Given the description of an element on the screen output the (x, y) to click on. 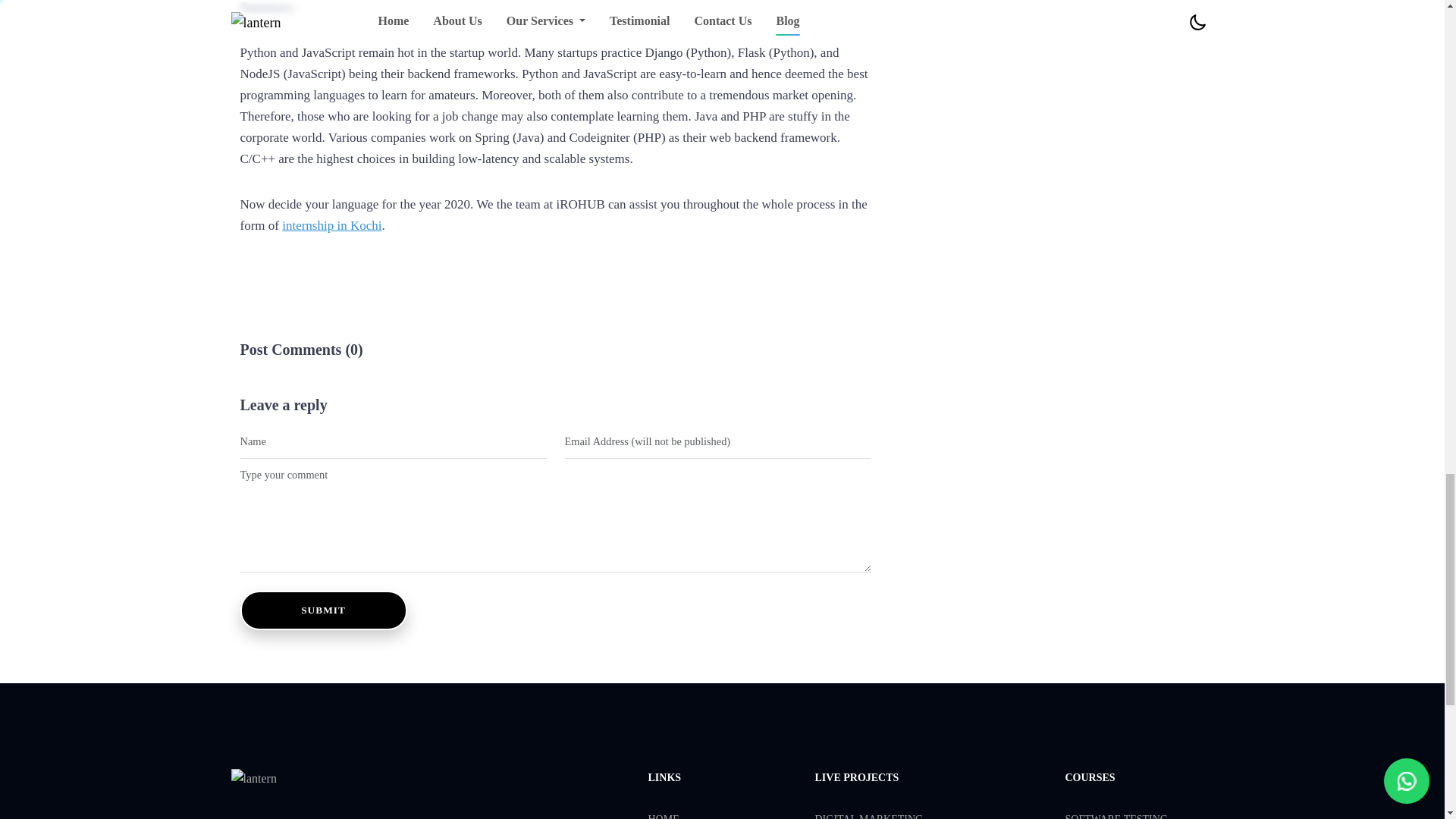
Submit (323, 609)
internship in Kochi (331, 225)
SOFTWARE TESTING (1115, 816)
Submit (323, 609)
